Given the description of an element on the screen output the (x, y) to click on. 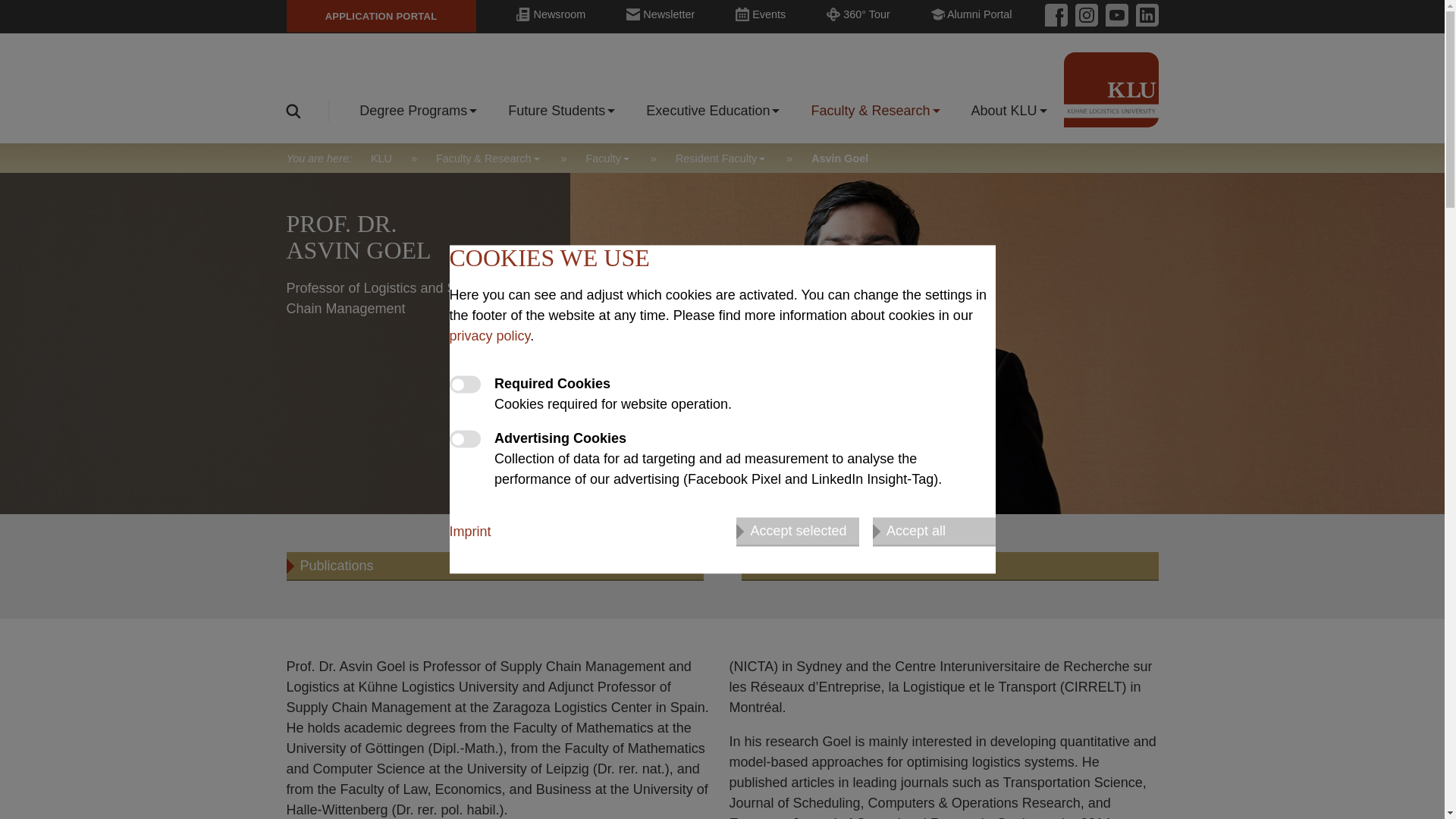
LinkedIn (1143, 15)
YouTube (1112, 15)
Instagram (1082, 15)
Facebook (1056, 15)
